Given the description of an element on the screen output the (x, y) to click on. 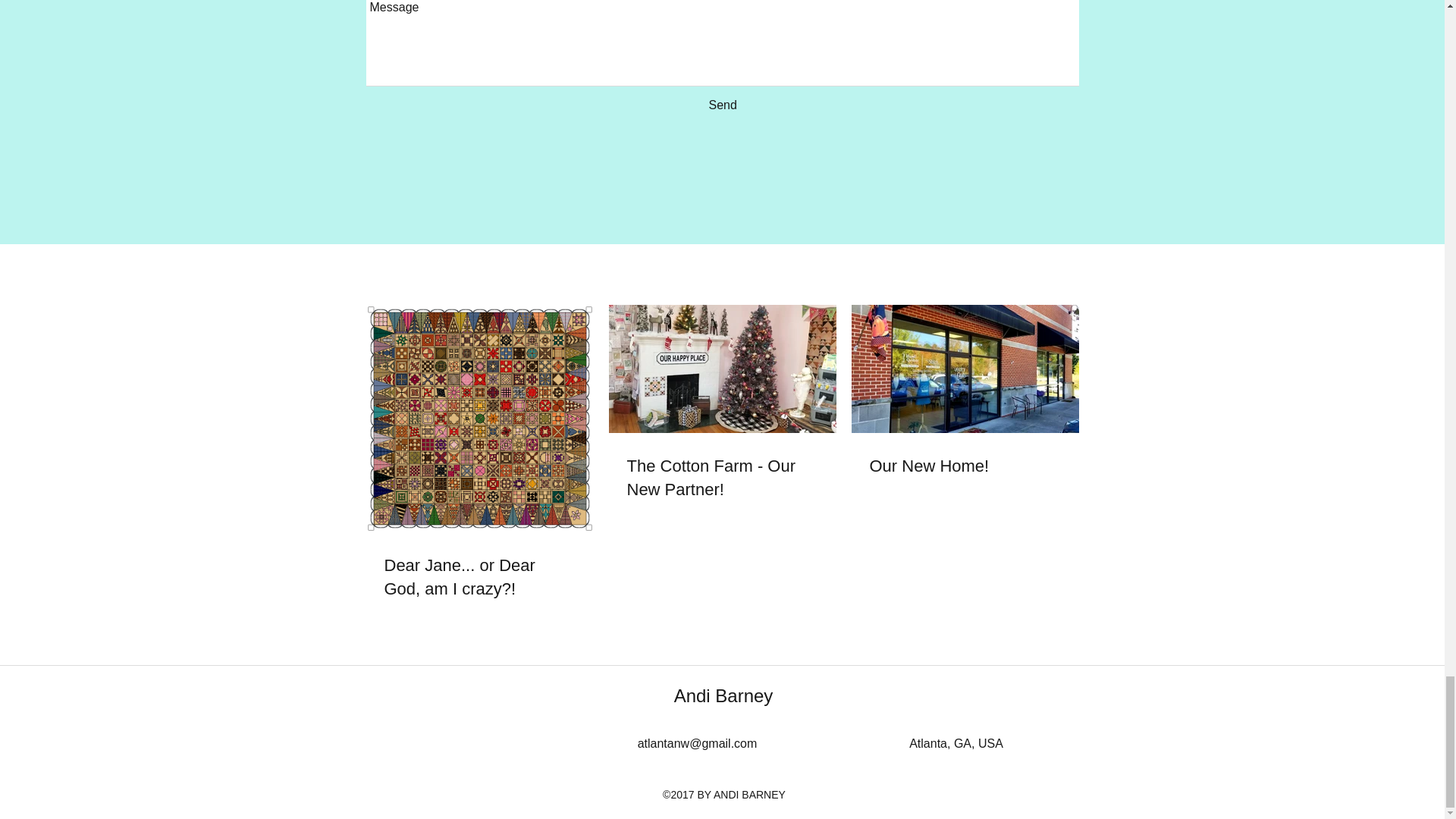
Dear Jane... or Dear God, am I crazy?! (479, 577)
The Cotton Farm - Our New Partner! (721, 478)
Send (721, 105)
Our New Home! (964, 466)
